Given the description of an element on the screen output the (x, y) to click on. 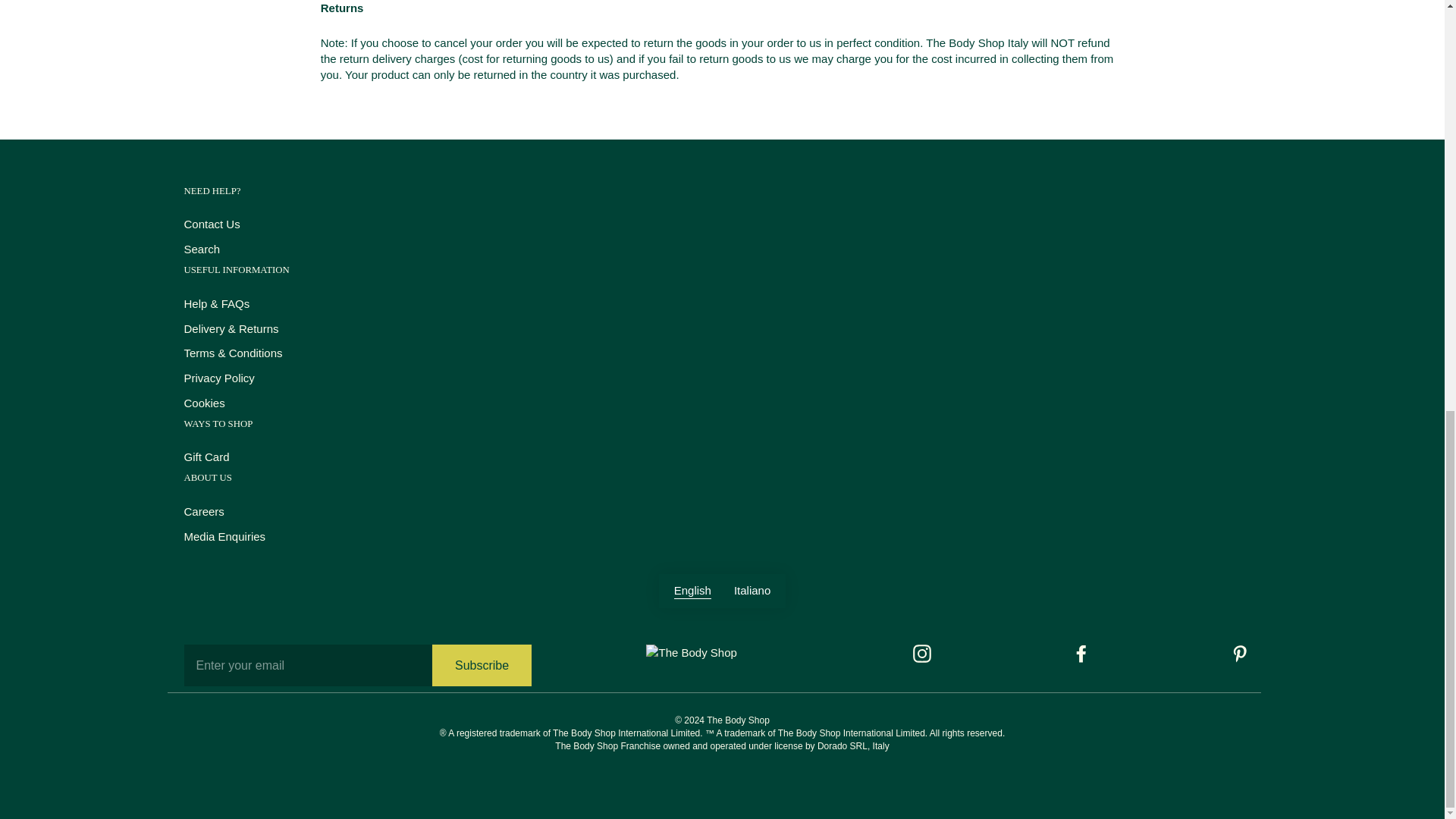
The Body Shop on Pinterest (1239, 653)
The Body Shop on Facebook (1080, 653)
The Body Shop on Instagram (921, 653)
